Given the description of an element on the screen output the (x, y) to click on. 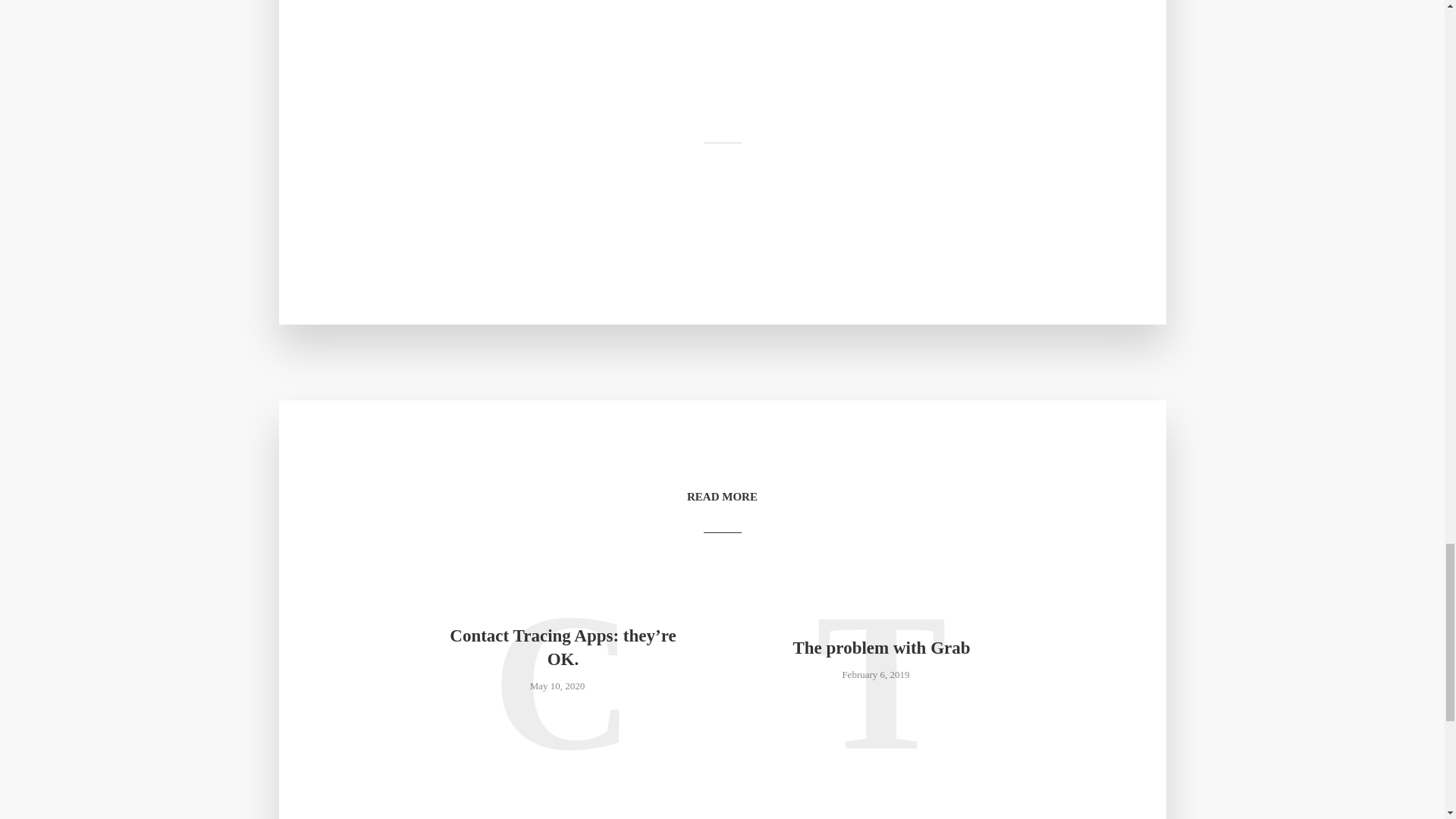
Comment Form (721, 22)
The problem with Grab (880, 648)
